Given the description of an element on the screen output the (x, y) to click on. 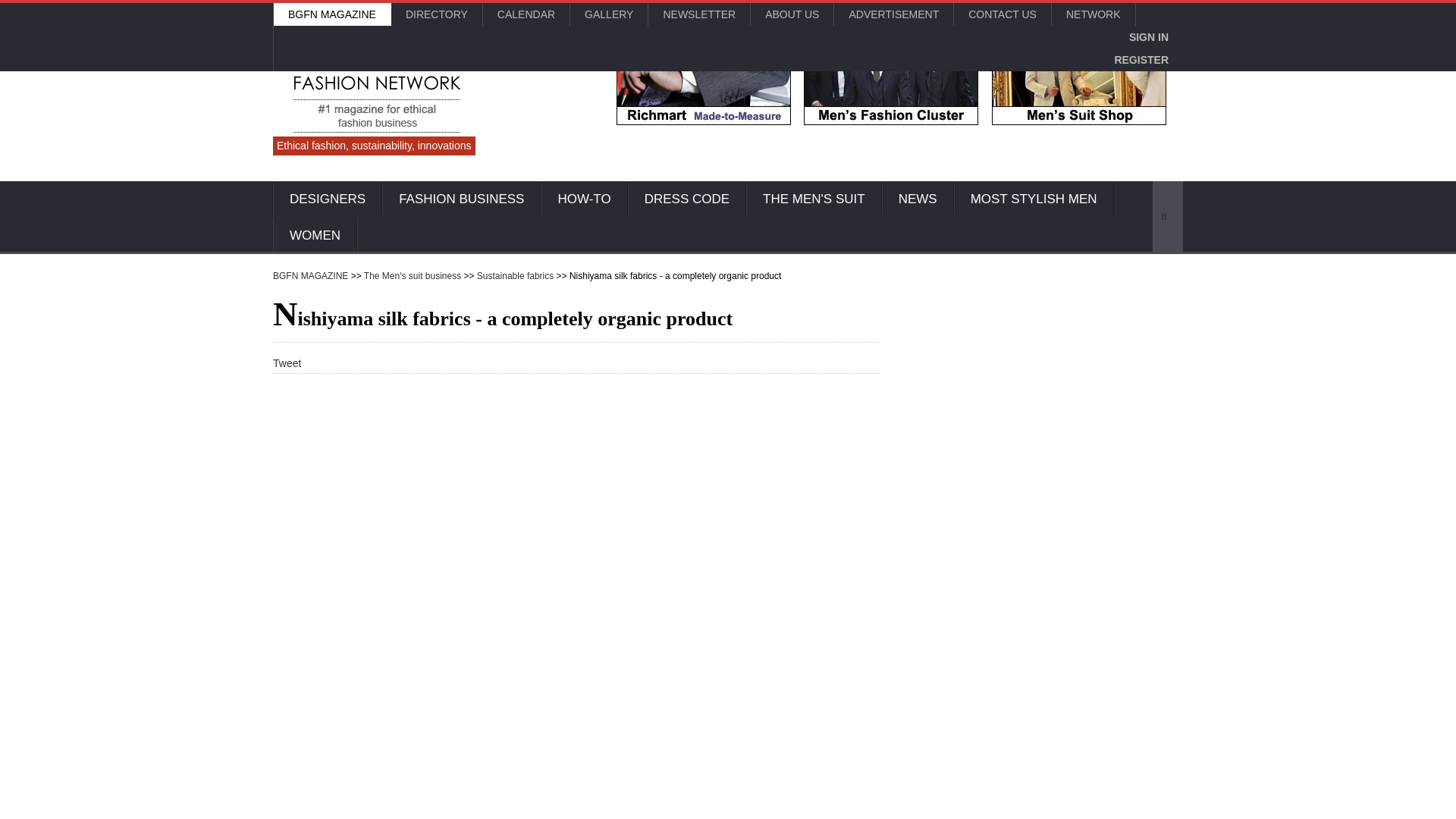
CALENDAR (526, 14)
DIRECTORY (436, 14)
BGFN MAGAZINE (331, 14)
ABOUT US (791, 14)
GALLERY (608, 14)
SIGN IN (1148, 36)
DESIGNERS (327, 198)
NETWORK (1093, 14)
ADVERTISEMENT (893, 14)
CONTACT US (1002, 14)
FASHION BUSINESS (460, 198)
REGISTER (1140, 59)
NEWSLETTER (698, 14)
